Given the description of an element on the screen output the (x, y) to click on. 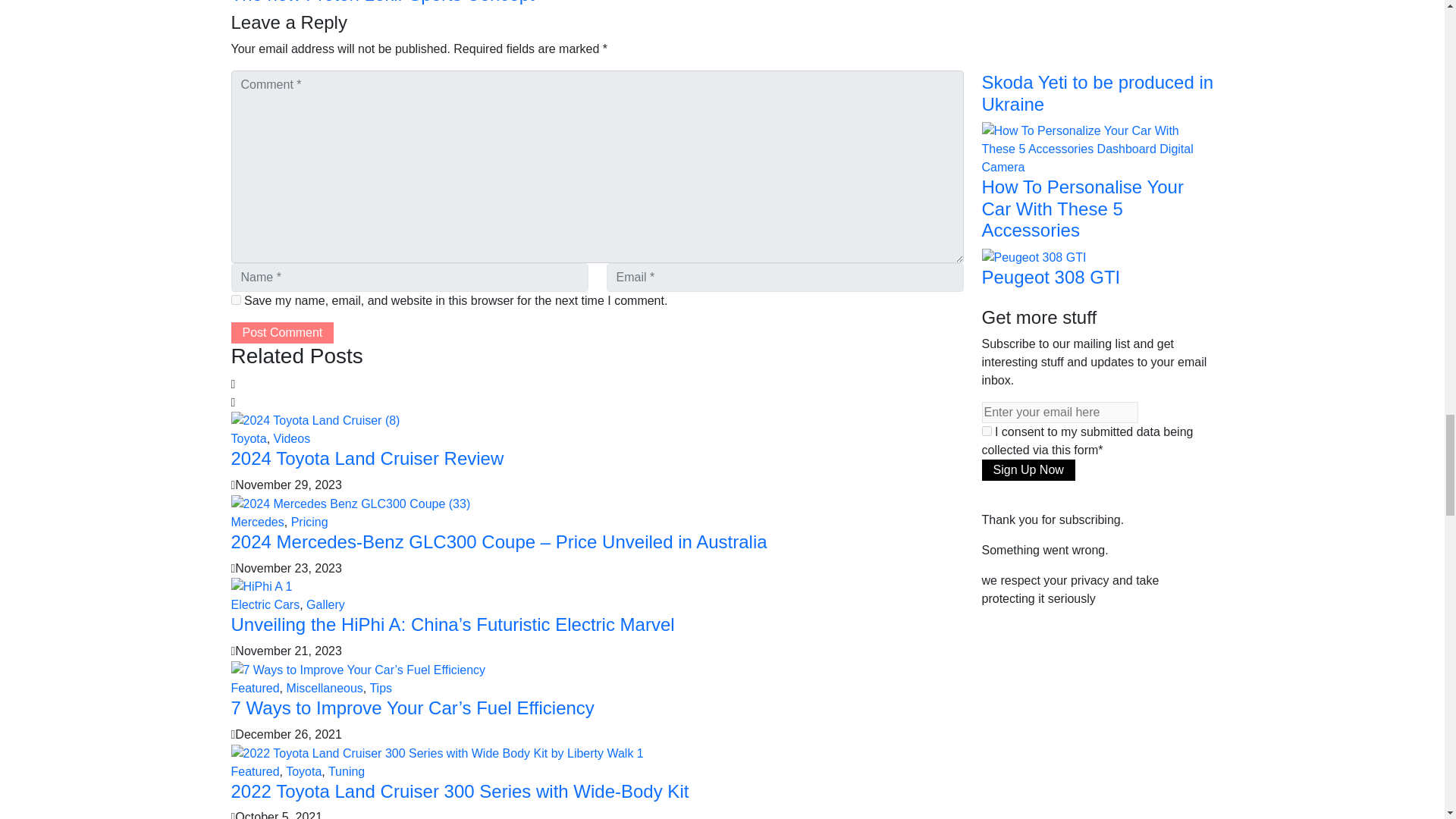
Sign Up Now (1027, 469)
Post Comment (281, 332)
How To Personalise Your Car With These 5 Accessories (1096, 147)
Peugeot 308 GTI (1033, 256)
yes (235, 299)
on (986, 430)
